Given the description of an element on the screen output the (x, y) to click on. 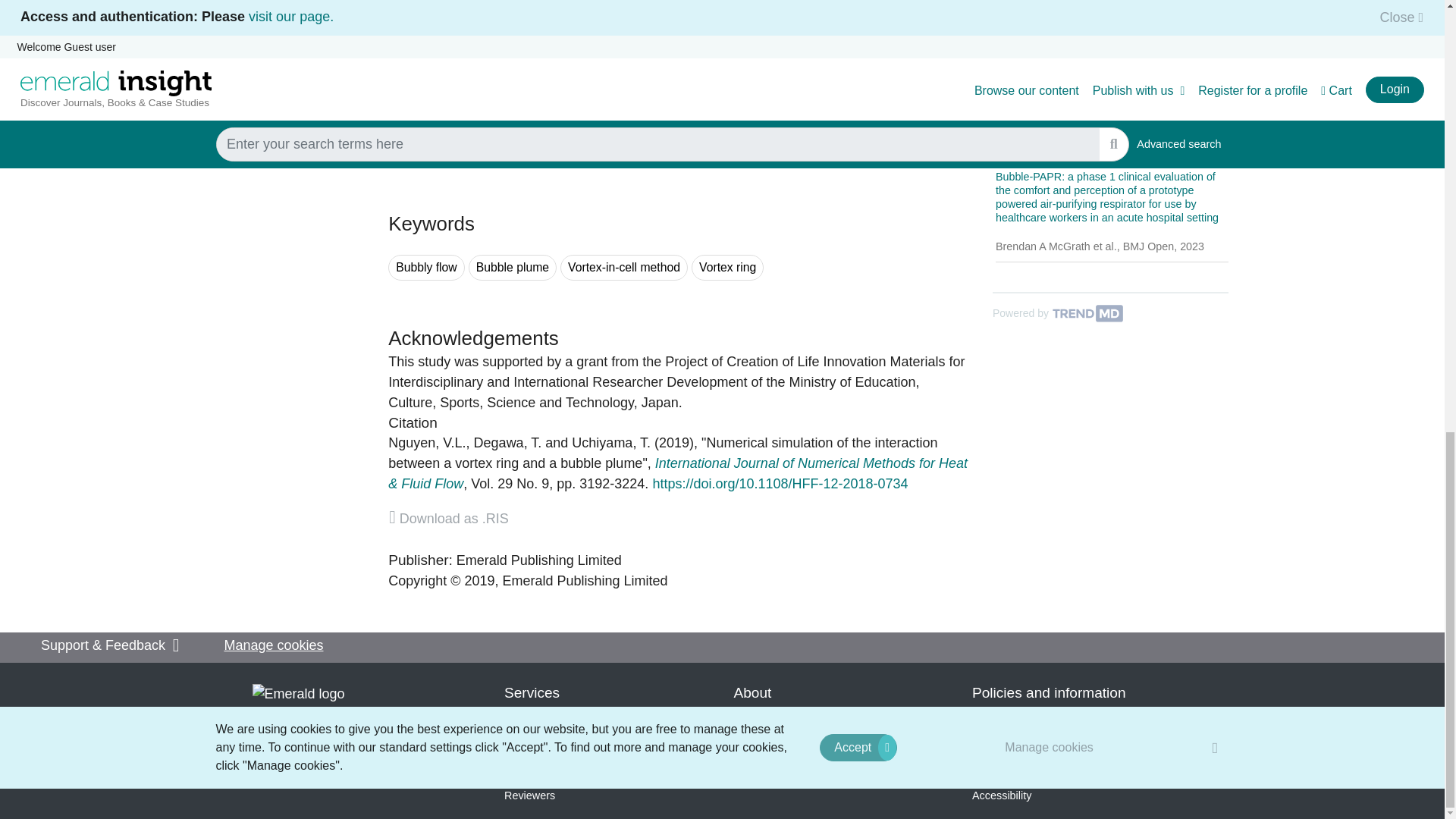
Search for keyword Vortex ring (726, 267)
Tomomi Uchiyama (611, 442)
Search for keyword Bubble plume (512, 267)
Van Luc Nguyen (426, 442)
Search for keyword Vortex-in-cell method (623, 267)
Search for keyword Bubbly flow (426, 267)
Tomohiro Degawa (507, 442)
